Given the description of an element on the screen output the (x, y) to click on. 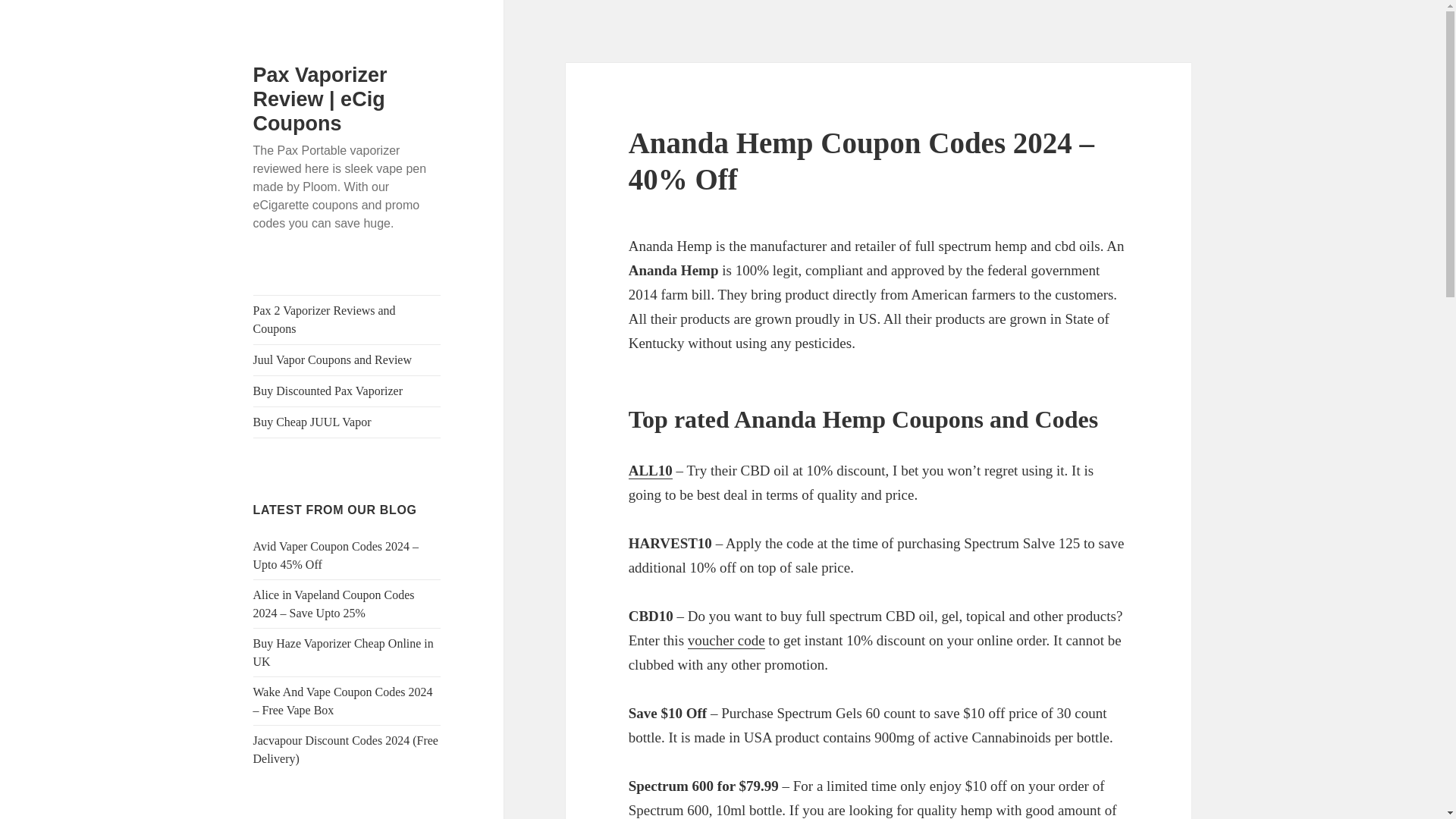
Juul Vapor Coupons and Review (347, 359)
Buy Cheap JUUL Vapor (347, 422)
Pax 2 Vaporizer Reviews and Coupons (347, 319)
Buy Discounted Pax Vaporizer (347, 390)
ALL10 (650, 470)
voucher code (726, 640)
Buy Haze Vaporizer Cheap Online in UK (343, 652)
